Given the description of an element on the screen output the (x, y) to click on. 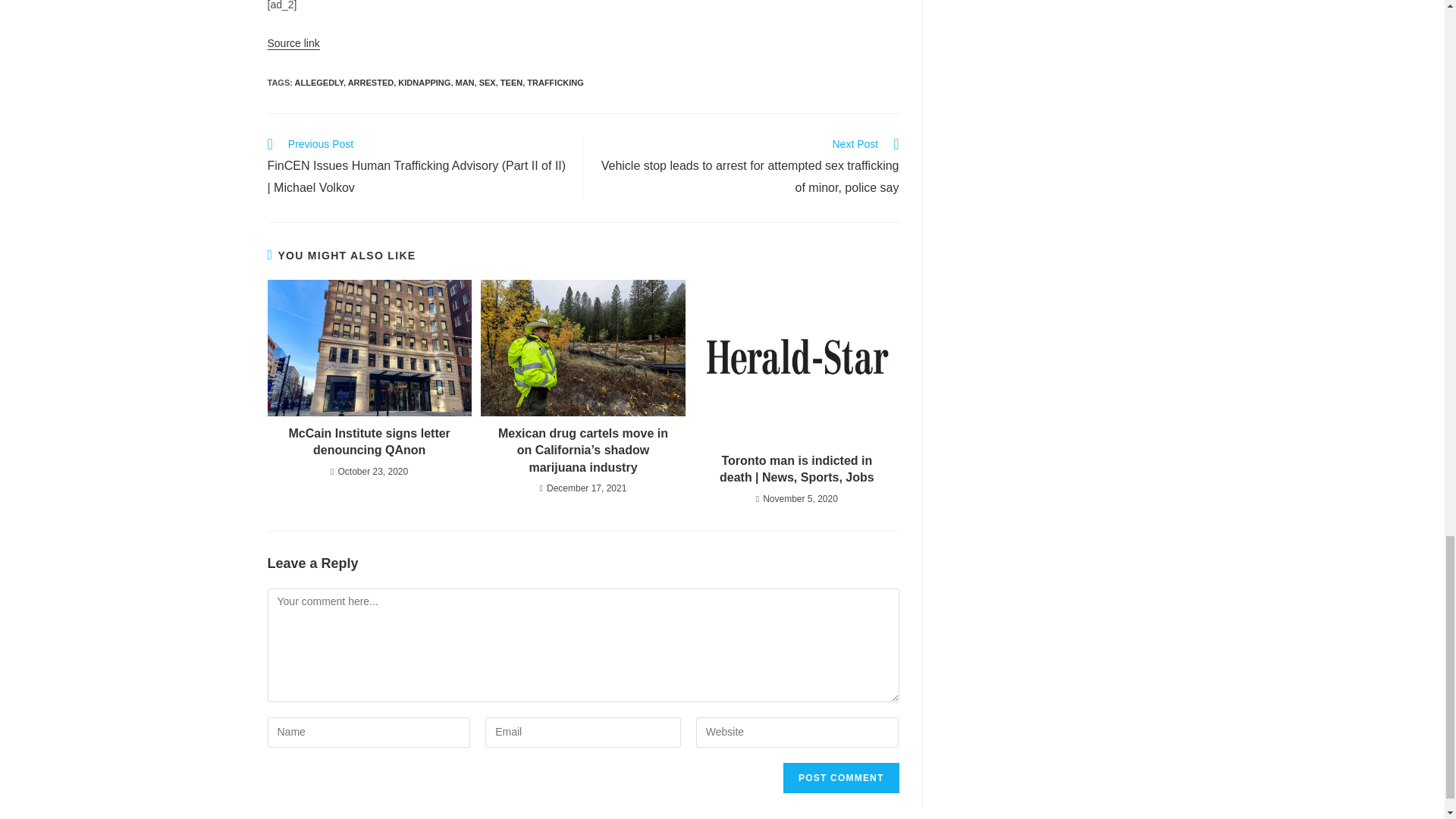
ARRESTED (370, 81)
SEX (487, 81)
Post Comment (840, 777)
TEEN (511, 81)
McCain Institute signs letter denouncing QAnon (368, 442)
MAN (464, 81)
Post Comment (840, 777)
TRAFFICKING (555, 81)
ALLEGEDLY (319, 81)
KIDNAPPING (423, 81)
Source link (292, 42)
